Given the description of an element on the screen output the (x, y) to click on. 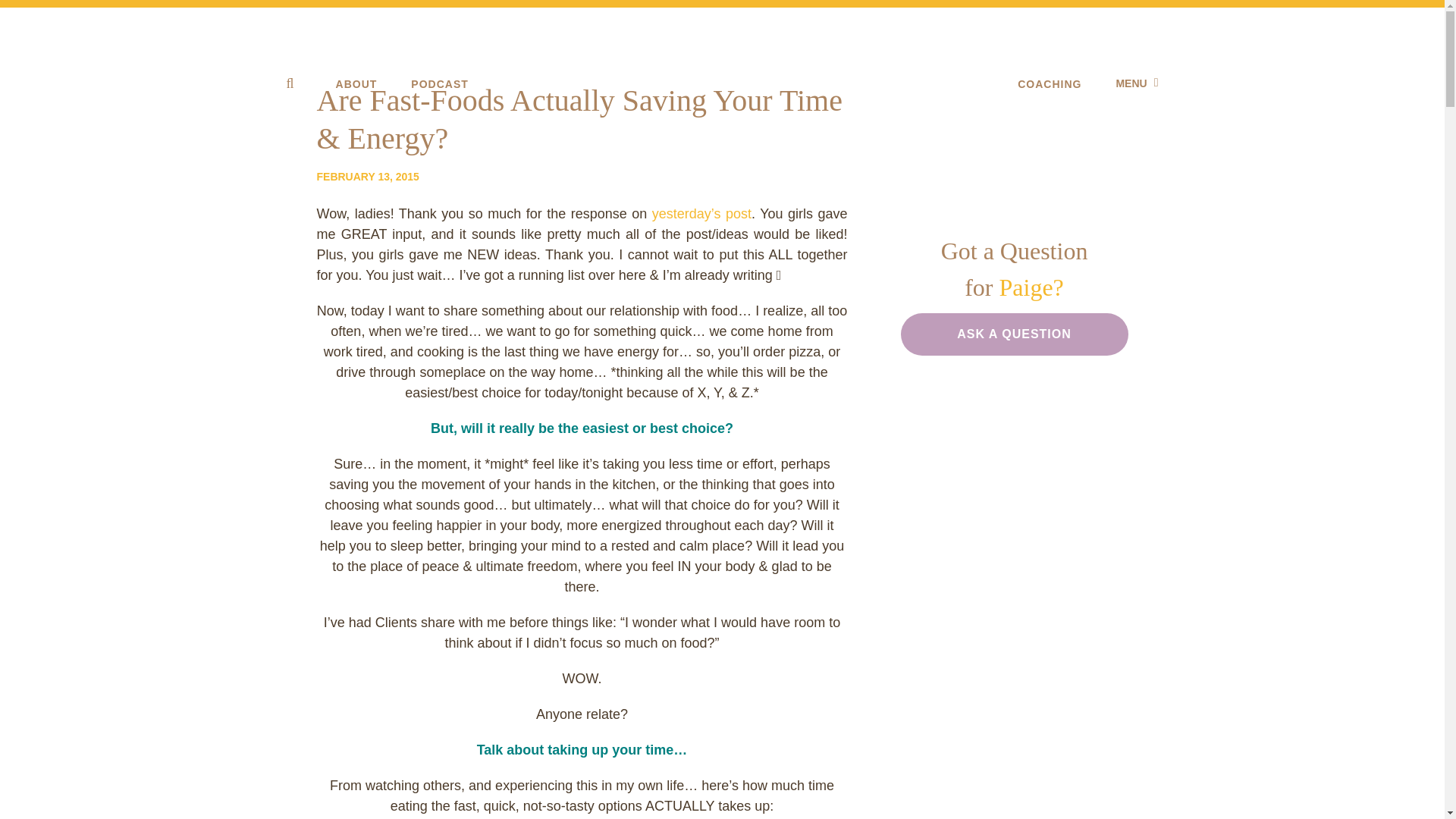
MENU (1136, 83)
Search (23, 9)
ABOUT (356, 83)
COACHING (1049, 83)
PODCAST (438, 83)
ASK A QUESTION (1014, 333)
